Given the description of an element on the screen output the (x, y) to click on. 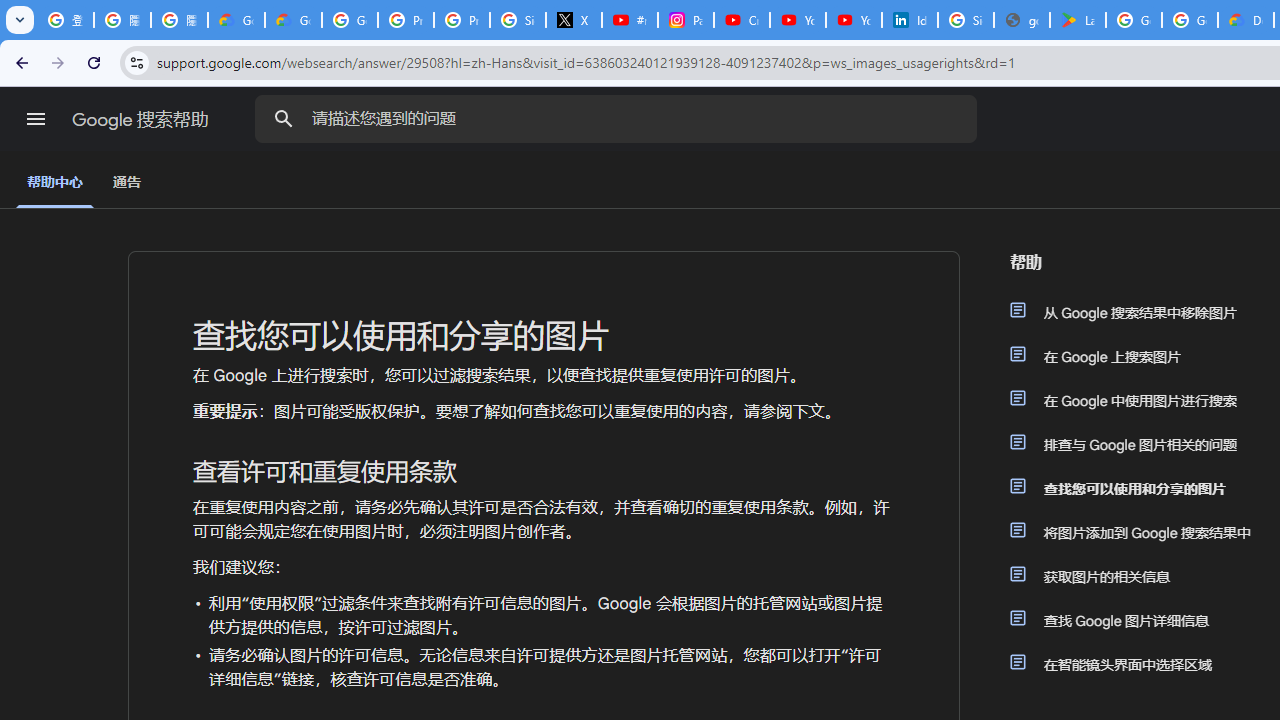
Privacy Help Center - Policies Help (461, 20)
X (573, 20)
Back (19, 62)
Identity verification via Persona | LinkedIn Help (909, 20)
google_privacy_policy_en.pdf (1021, 20)
Last Shelter: Survival - Apps on Google Play (1077, 20)
